Given the description of an element on the screen output the (x, y) to click on. 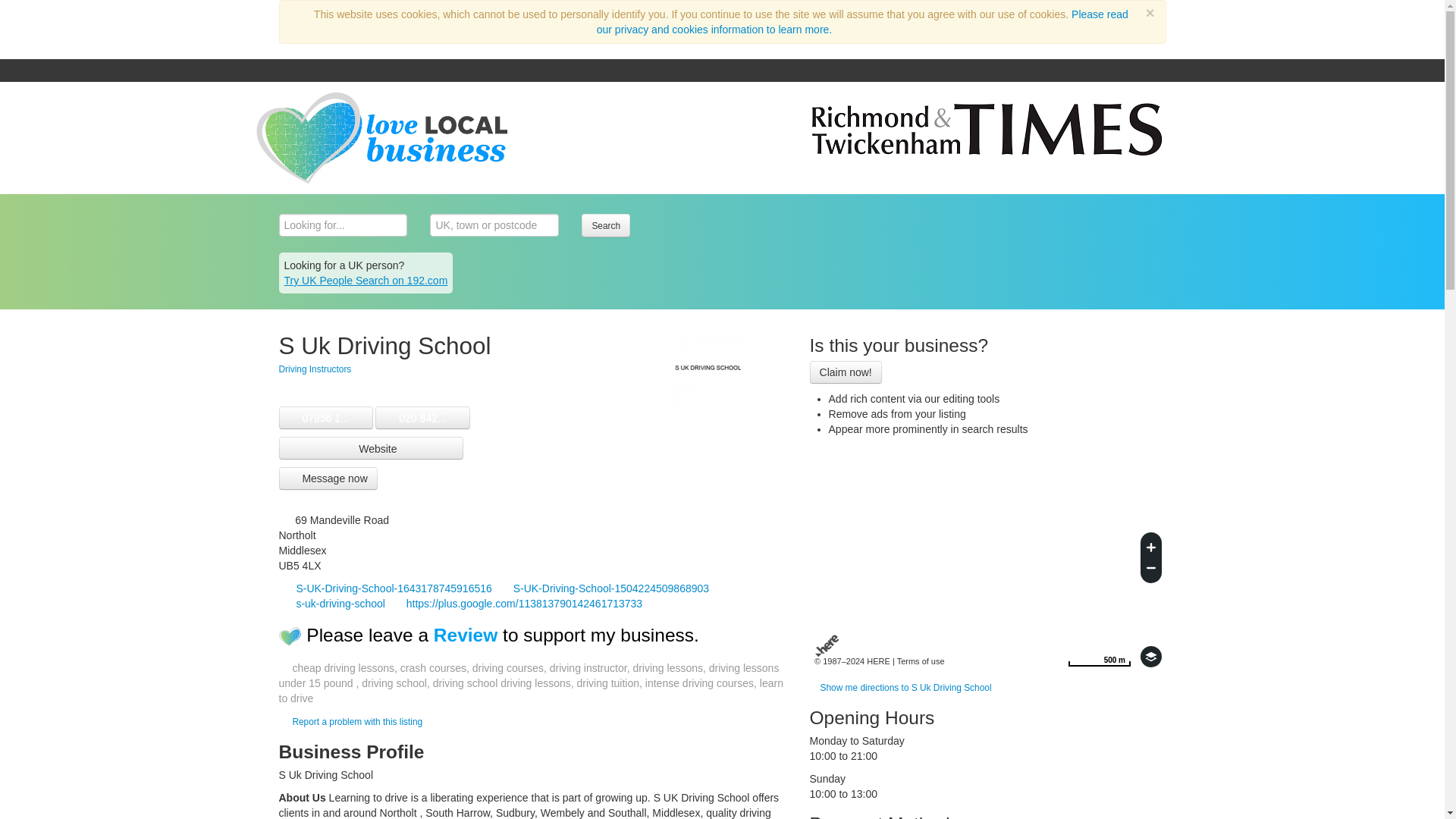
07956 1... (325, 417)
Message now (328, 477)
S-UK-Driving-School-1504224509868903 (604, 588)
Try UK People Search on 192.com (364, 280)
Zoom in (1150, 544)
Zoom out (1150, 570)
Choose view (1150, 656)
Change to miles (1099, 656)
Please leave a Review to support my business. (501, 634)
Report a problem with this listing (357, 720)
Website (371, 447)
Driving Instructors (315, 368)
click to show number (325, 417)
s-uk-driving-school (333, 603)
